Given the description of an element on the screen output the (x, y) to click on. 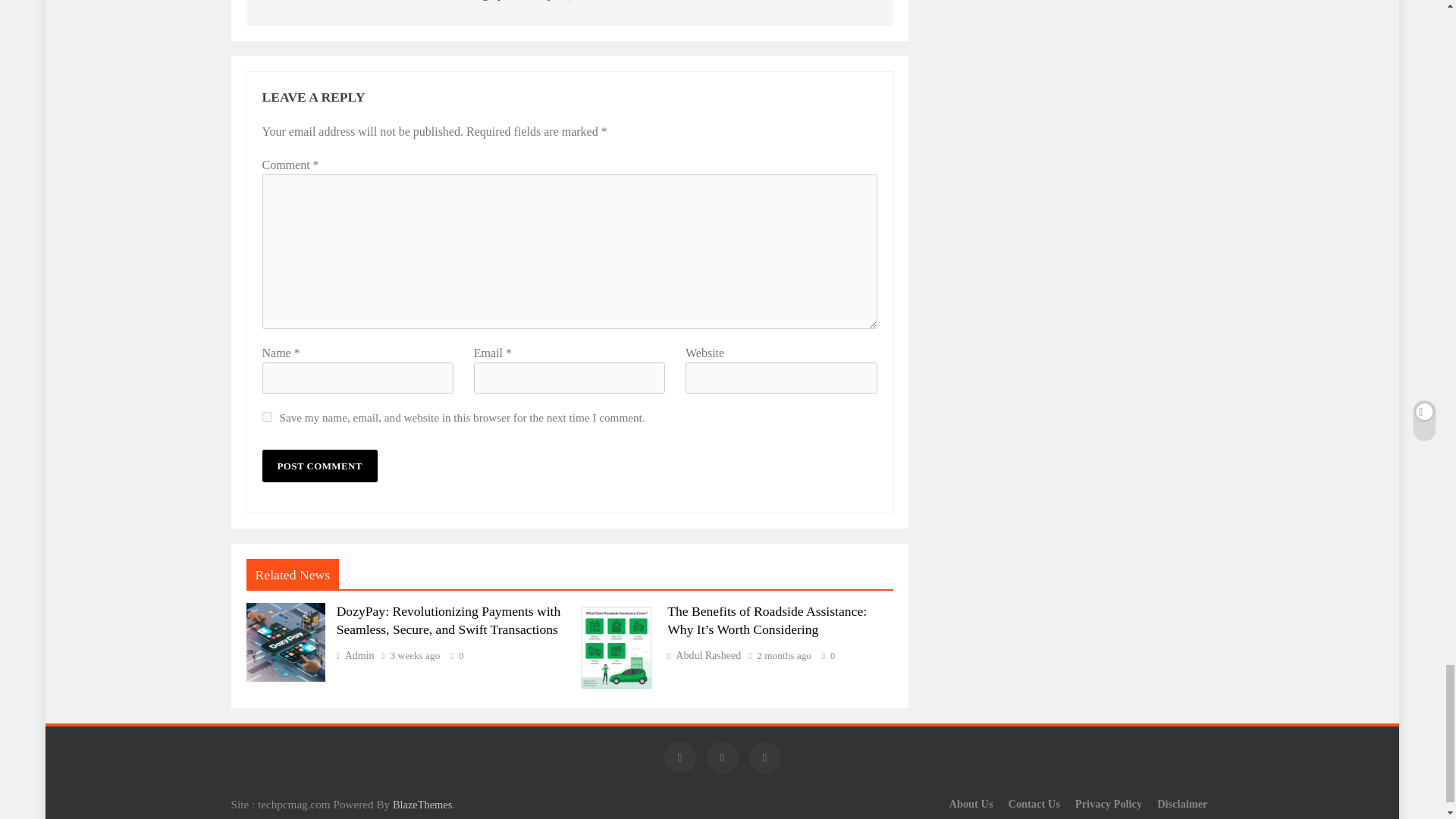
Post Comment (319, 465)
yes (267, 416)
3 weeks ago (415, 655)
Post Comment (319, 465)
Abdul Rasheed (703, 655)
Admin (355, 655)
2 months ago (783, 655)
